Given the description of an element on the screen output the (x, y) to click on. 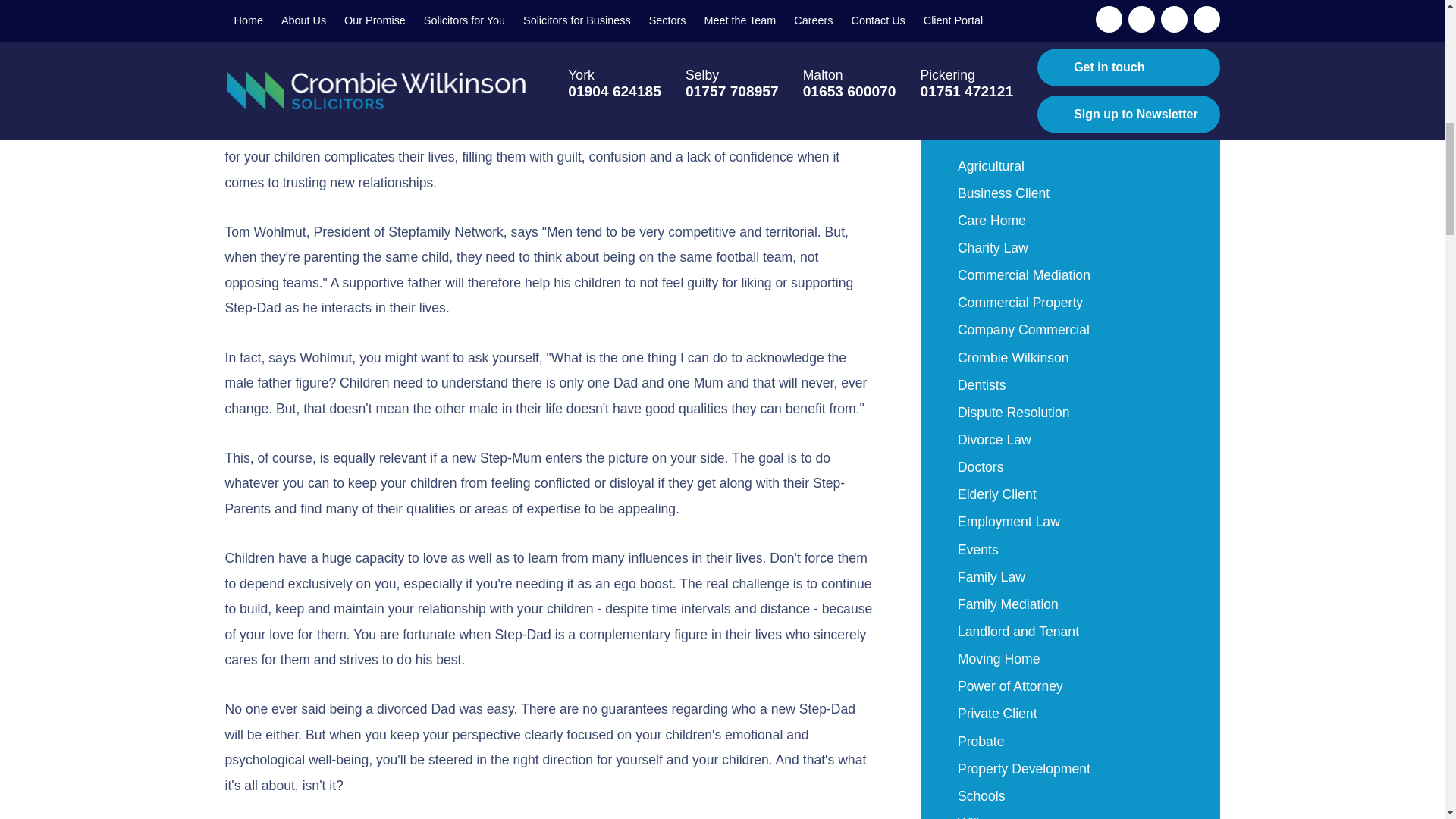
Send form (1070, 28)
